Given the description of an element on the screen output the (x, y) to click on. 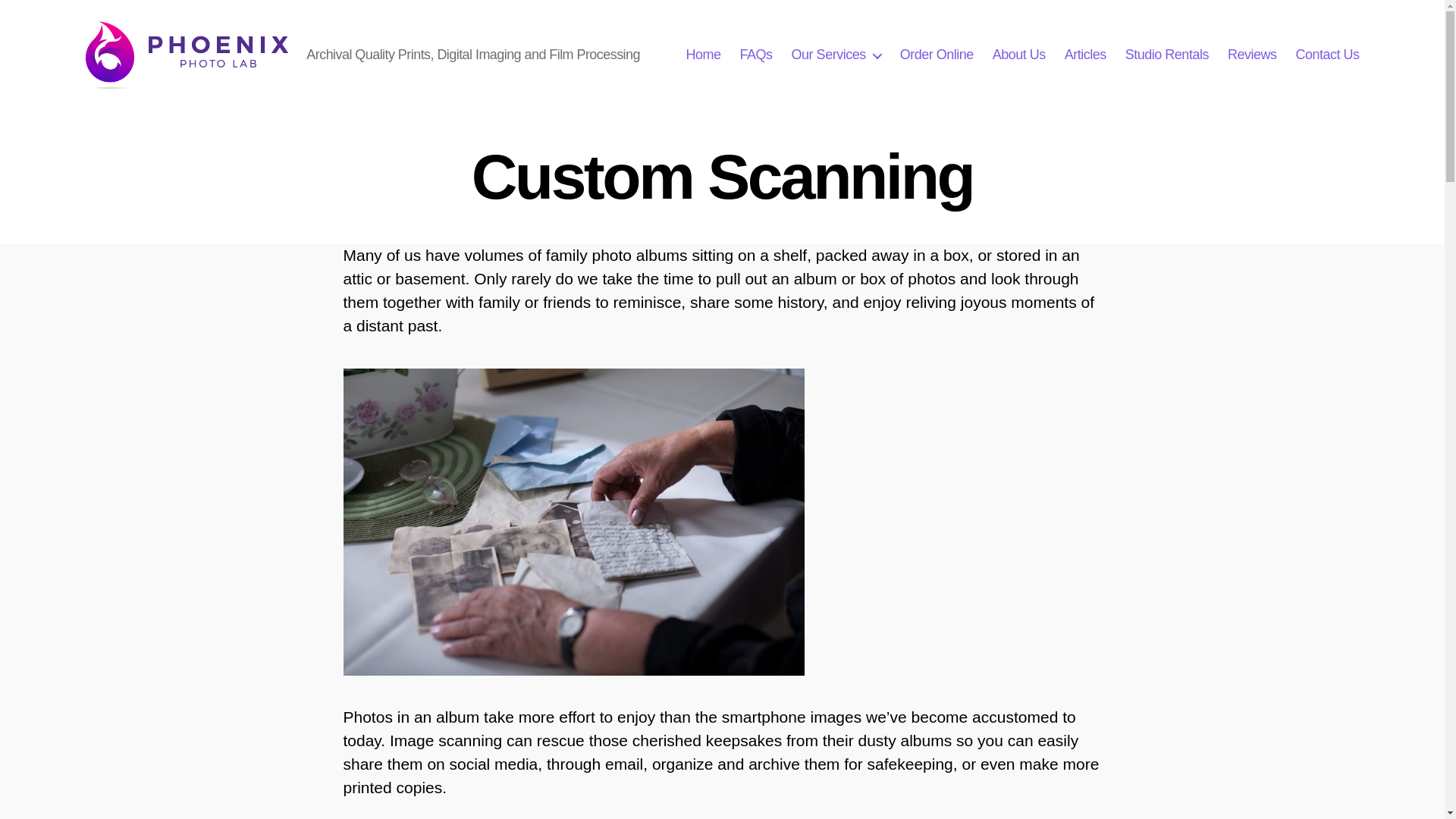
Home (702, 54)
Studio Rentals (1166, 54)
Articles (1085, 54)
Reviews (1251, 54)
Our Services (836, 54)
FAQs (756, 54)
About Us (1018, 54)
Contact Us (1326, 54)
Order Online (936, 54)
